Given the description of an element on the screen output the (x, y) to click on. 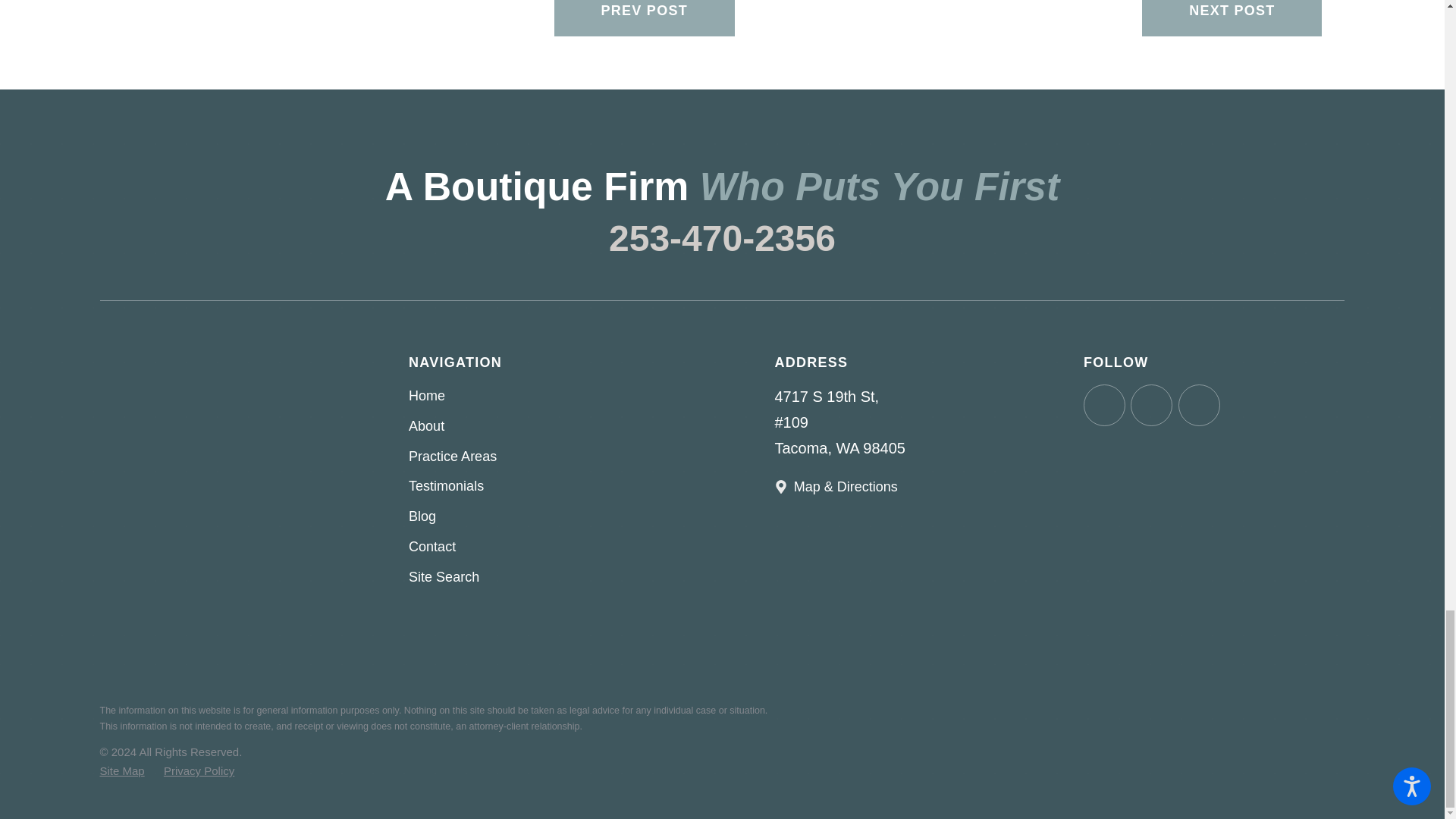
Facebook (1104, 404)
LinkedIn (1151, 404)
Google Business Profile (1198, 404)
